Given the description of an element on the screen output the (x, y) to click on. 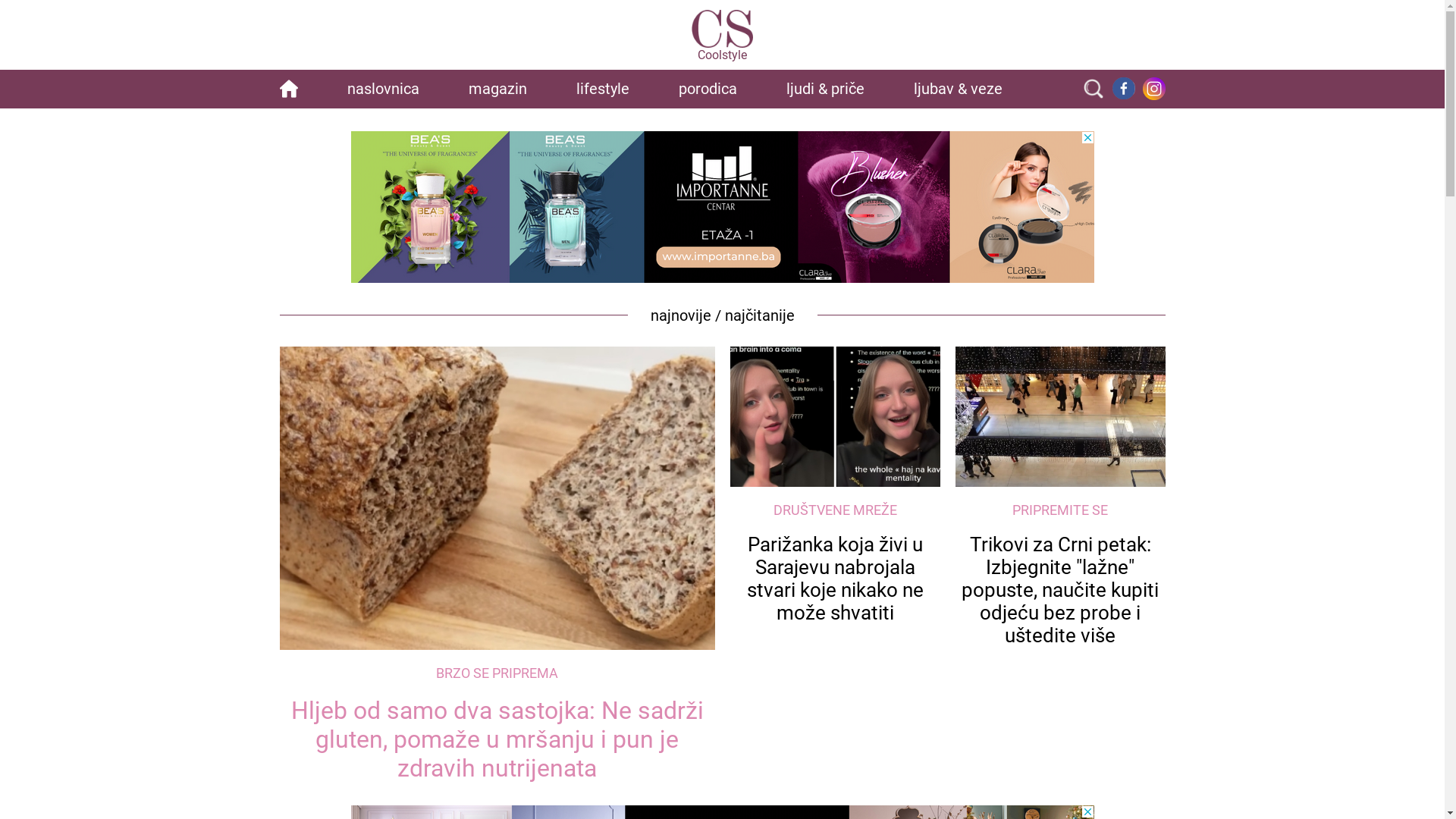
naslovnica Element type: text (383, 88)
ljubav & veze Element type: text (957, 88)
BRZO SE PRIPREMA Element type: text (496, 672)
lifestyle Element type: text (602, 88)
najnovije Element type: text (680, 315)
magazin Element type: text (497, 88)
Coolstyle Element type: text (722, 35)
porodica Element type: text (707, 88)
PRIPREMITE SE Element type: text (1060, 509)
3rd party ad content Element type: hover (721, 206)
